Given the description of an element on the screen output the (x, y) to click on. 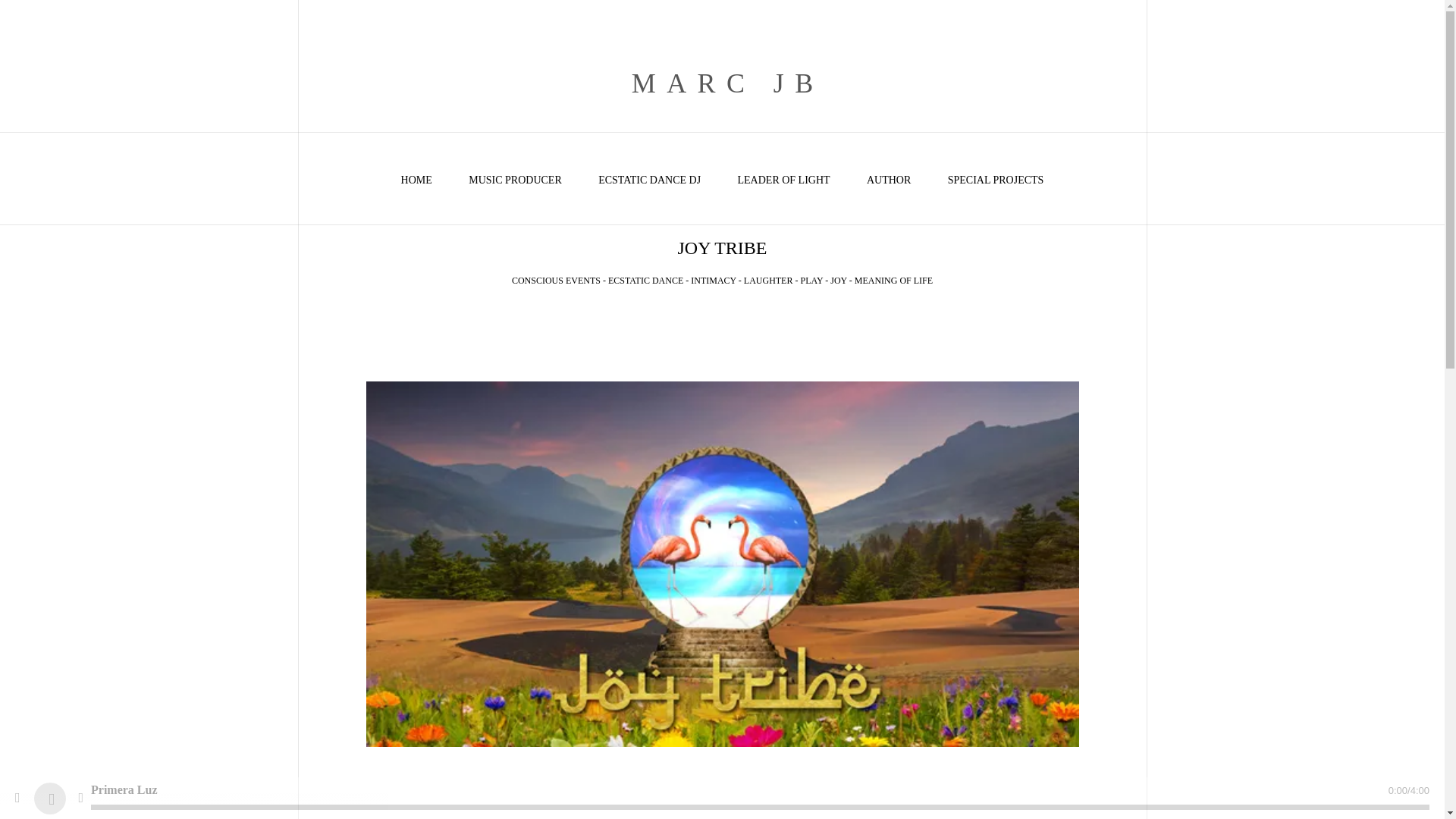
AUTHOR (888, 180)
LEADER OF LIGHT (782, 180)
MARC JB (722, 83)
MUSIC PRODUCER (515, 180)
SPECIAL PROJECTS (995, 180)
ECSTATIC DANCE DJ (649, 180)
HOME (416, 180)
